Given the description of an element on the screen output the (x, y) to click on. 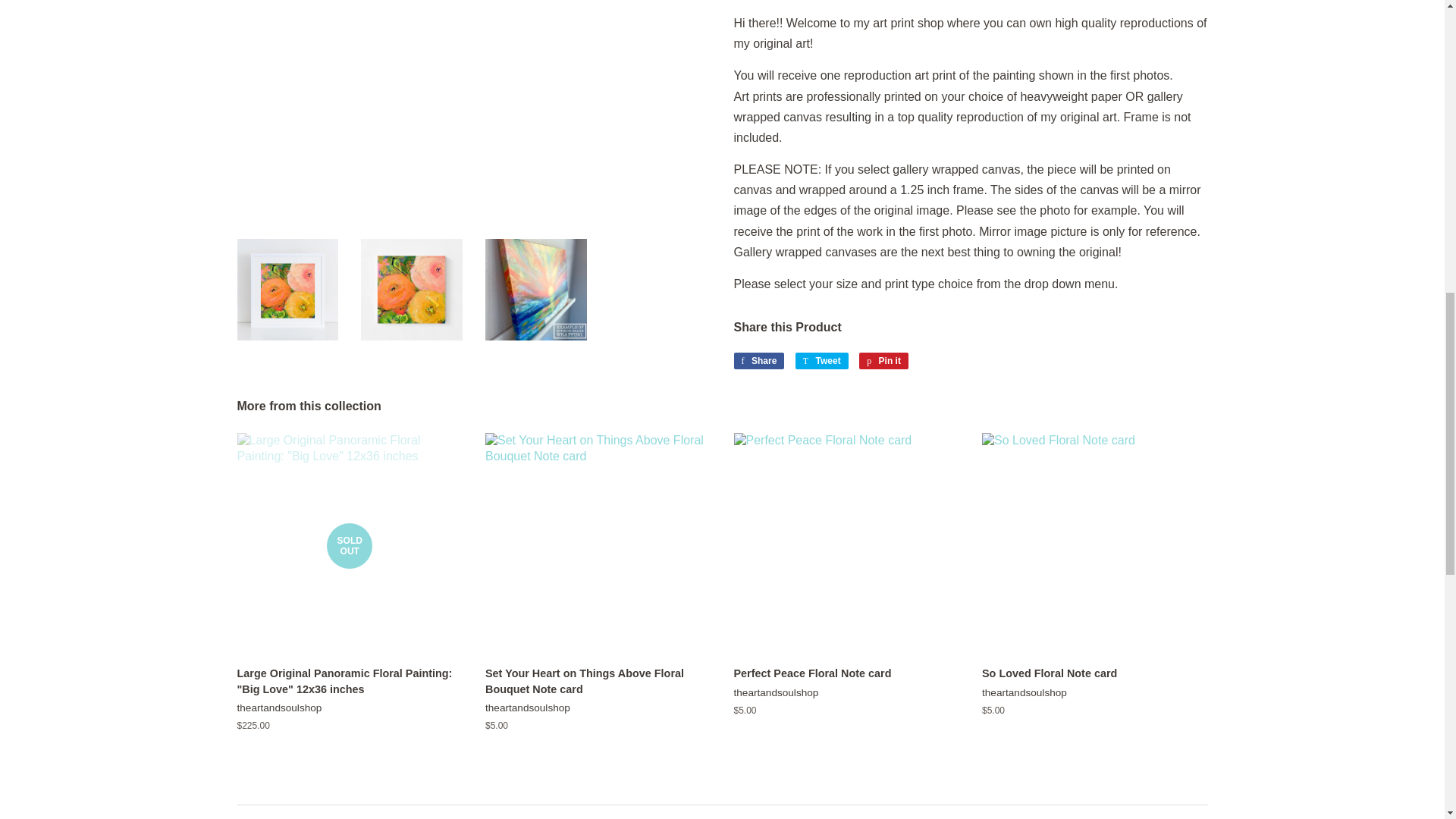
Pin on Pinterest (883, 360)
Share on Facebook (758, 360)
Tweet on Twitter (821, 360)
